Given the description of an element on the screen output the (x, y) to click on. 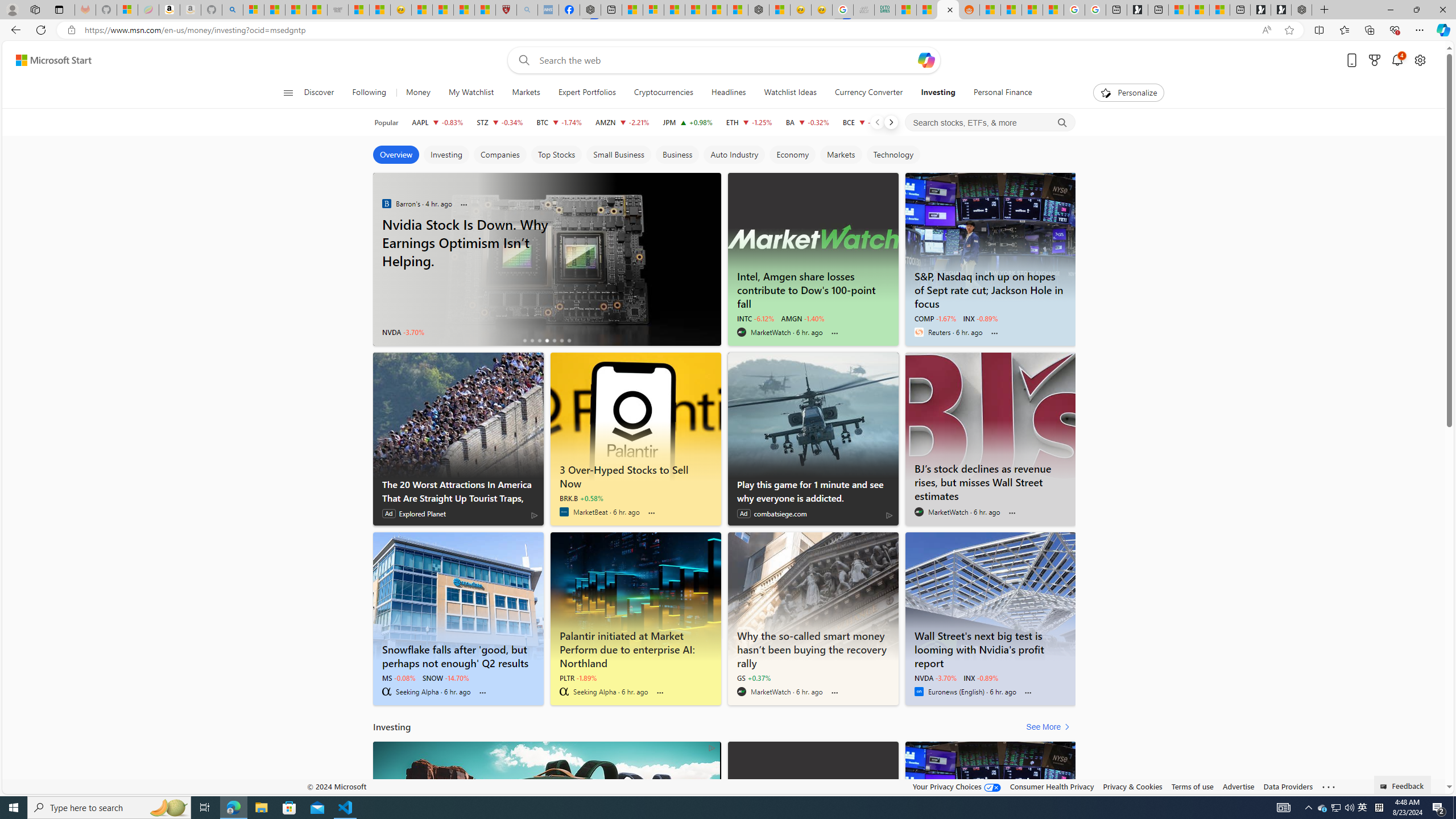
Tab actions menu (58, 9)
Add this page to favorites (Ctrl+D) (1289, 29)
Expert Portfolios (586, 92)
Microsoft account | Privacy (652, 9)
Expert Portfolios (586, 92)
Browser essentials (1394, 29)
STZ CONSTELLATION BRANDS, INC. decrease 243.92 -0.82 -0.34% (499, 122)
These 3 Stocks Pay You More Than 5% to Own Them (1219, 9)
12 Popular Science Lies that Must be Corrected (485, 9)
Following (368, 92)
